Given the description of an element on the screen output the (x, y) to click on. 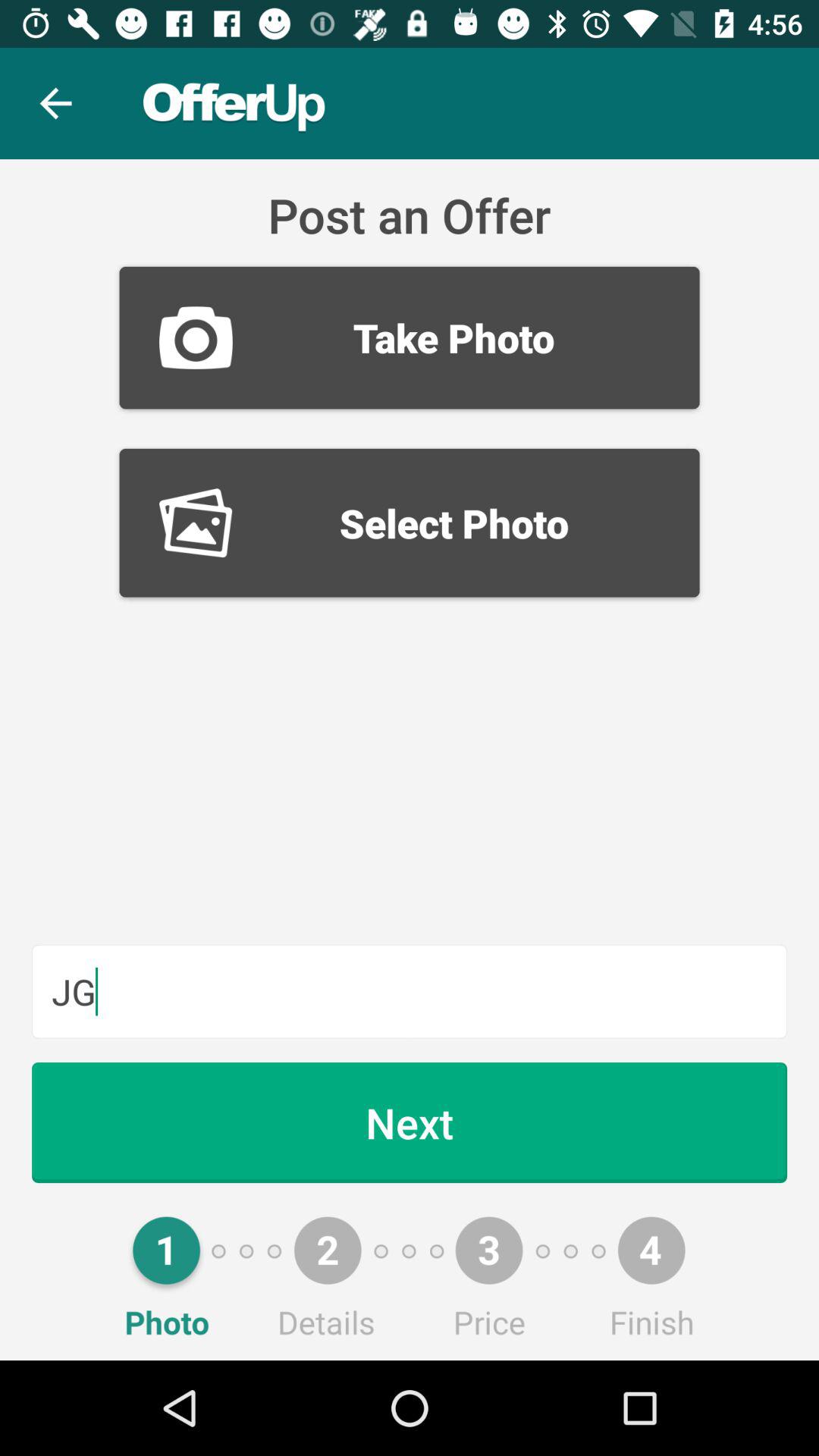
press the item above the take photo item (55, 103)
